Given the description of an element on the screen output the (x, y) to click on. 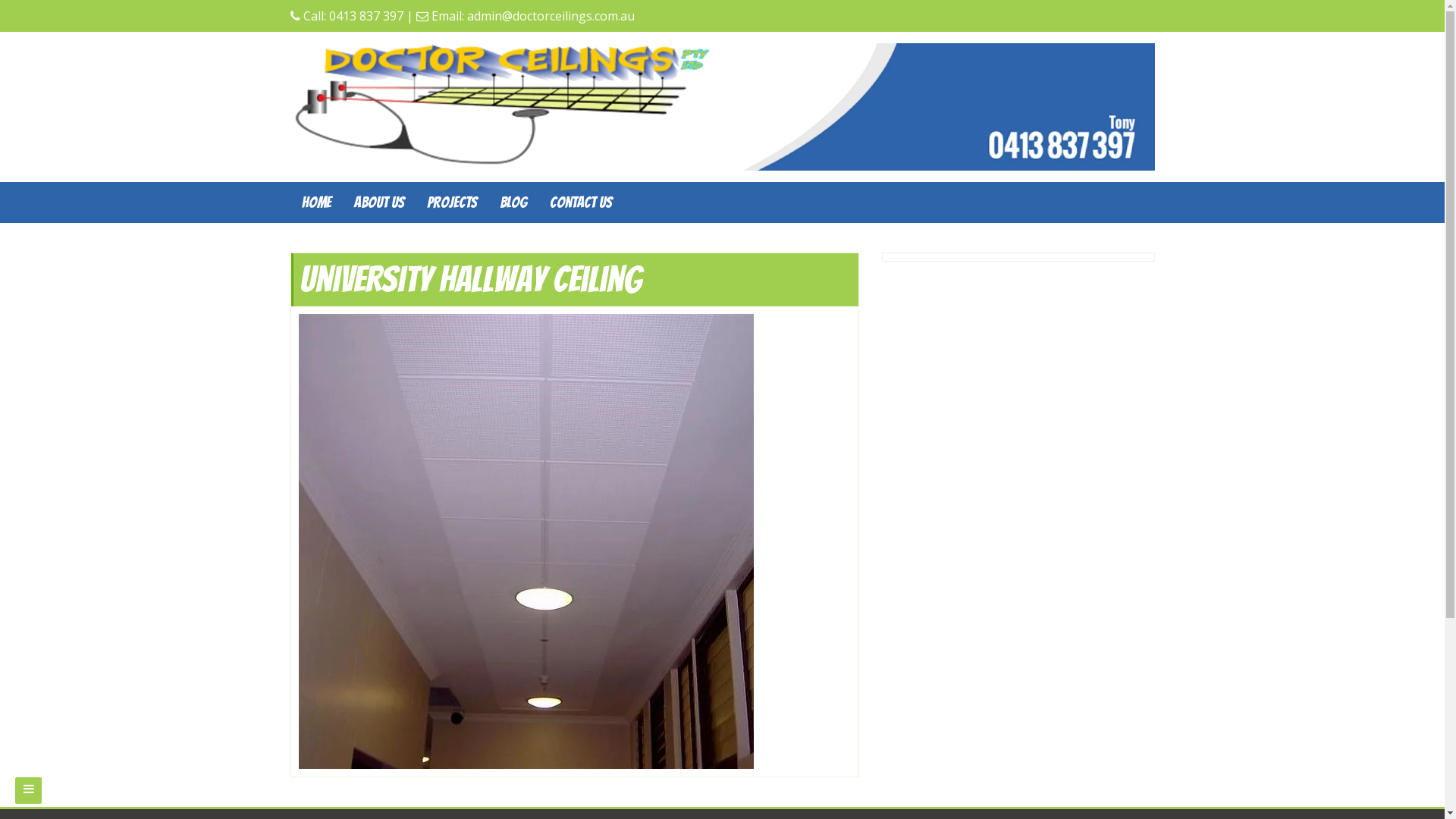
Contact Us Element type: text (580, 202)
Projects Element type: text (451, 202)
0413 837 397 Element type: text (366, 15)
Home Element type: text (315, 202)
admin@doctorceilings.com.au Element type: text (550, 15)
Blog Element type: text (513, 202)
About Us Element type: text (378, 202)
